Given the description of an element on the screen output the (x, y) to click on. 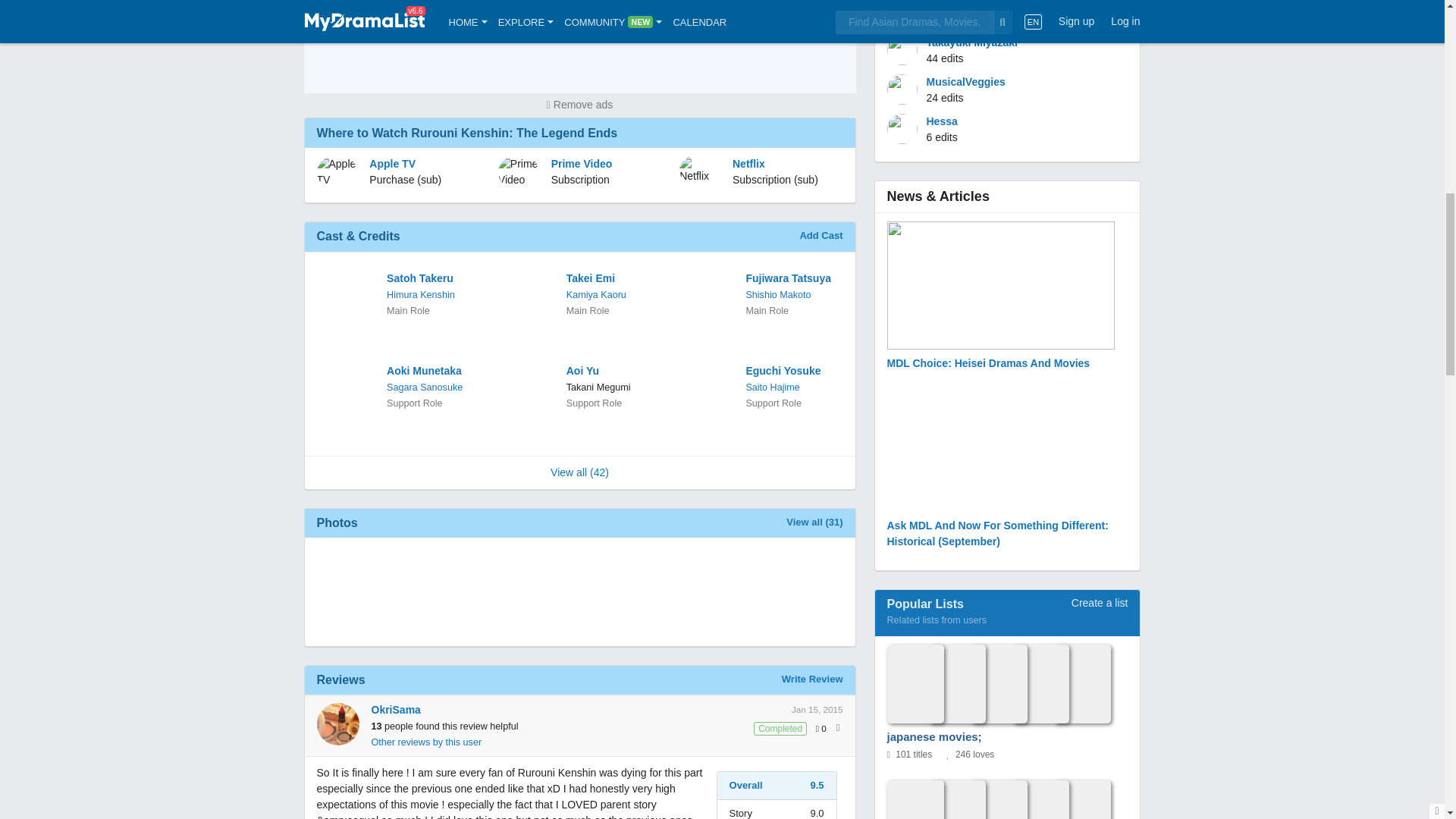
Sagara Sanosuke - Rurouni Kenshin: The Legend Ends (425, 387)
Satoh Takeru (433, 278)
Shishio Makoto - Rurouni Kenshin: The Legend Ends (777, 294)
Aoki Munetaka (433, 371)
Himura Kenshin - Rurouni Kenshin: The Legend Ends (420, 294)
Takei Emi (613, 278)
Fujiwara Tatsuya (792, 278)
Kamiya Kaoru - Rurouni Kenshin: The Legend Ends (596, 294)
